Given the description of an element on the screen output the (x, y) to click on. 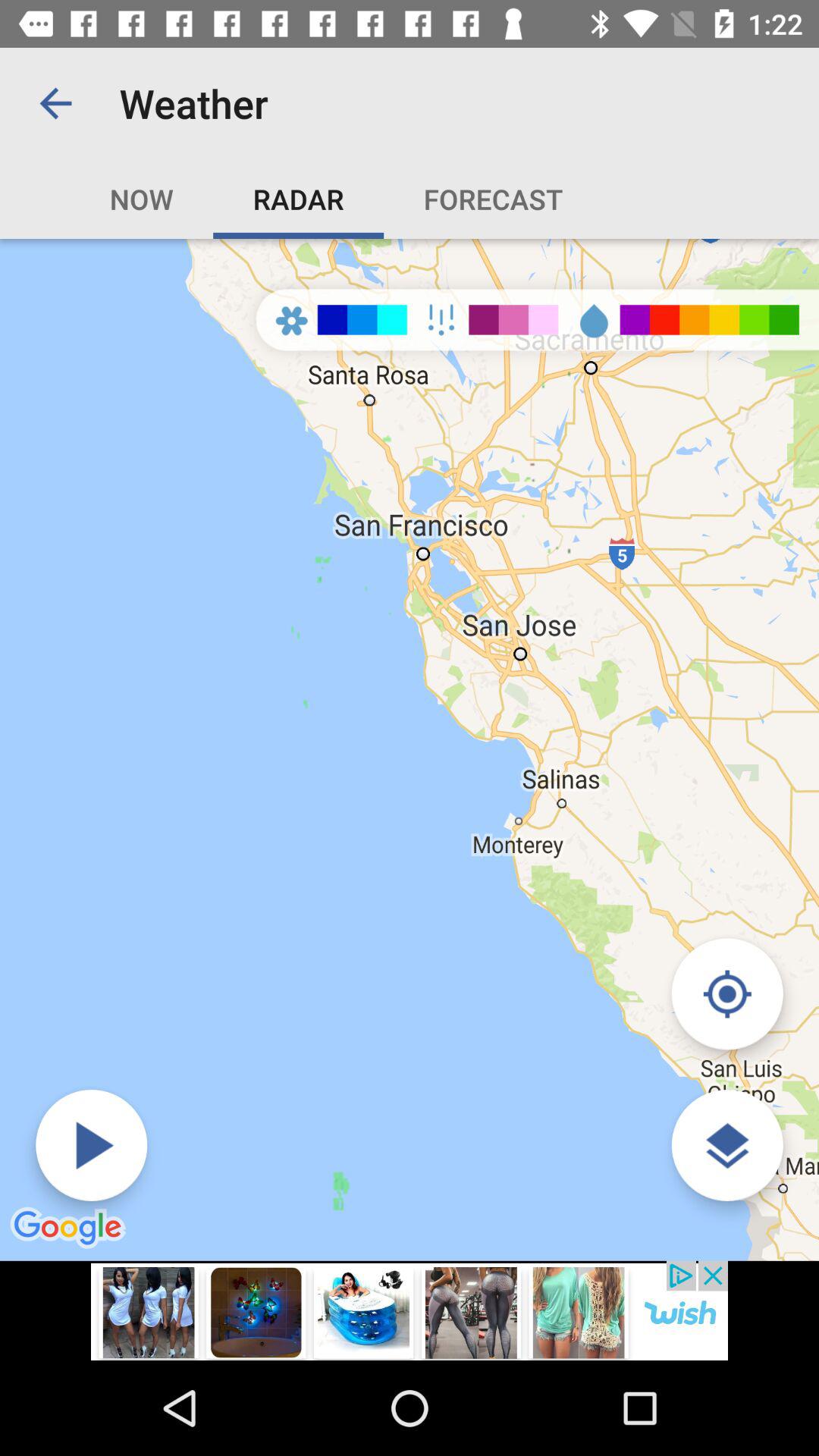
click on the icon which is at the bottom of the right corner (726, 1145)
select google (69, 1228)
click on forecast option (493, 198)
select the text below the text weather (444, 198)
click on the play option in the bottom left corner (91, 1145)
